Given the description of an element on the screen output the (x, y) to click on. 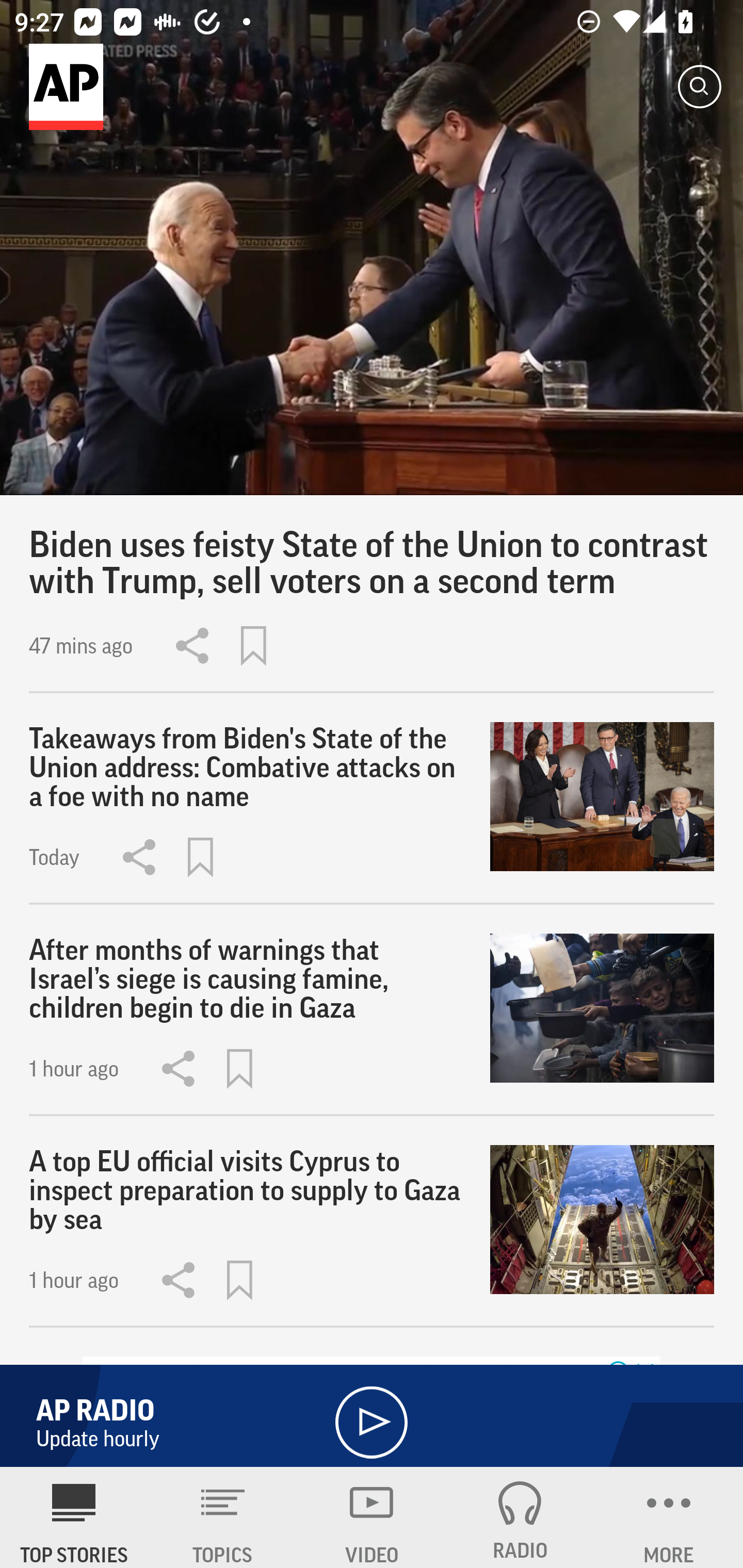
AP RADIO Update hourly (371, 1410)
AP News TOP STORIES (74, 1517)
TOPICS (222, 1517)
VIDEO (371, 1517)
RADIO (519, 1517)
MORE (668, 1517)
